Given the description of an element on the screen output the (x, y) to click on. 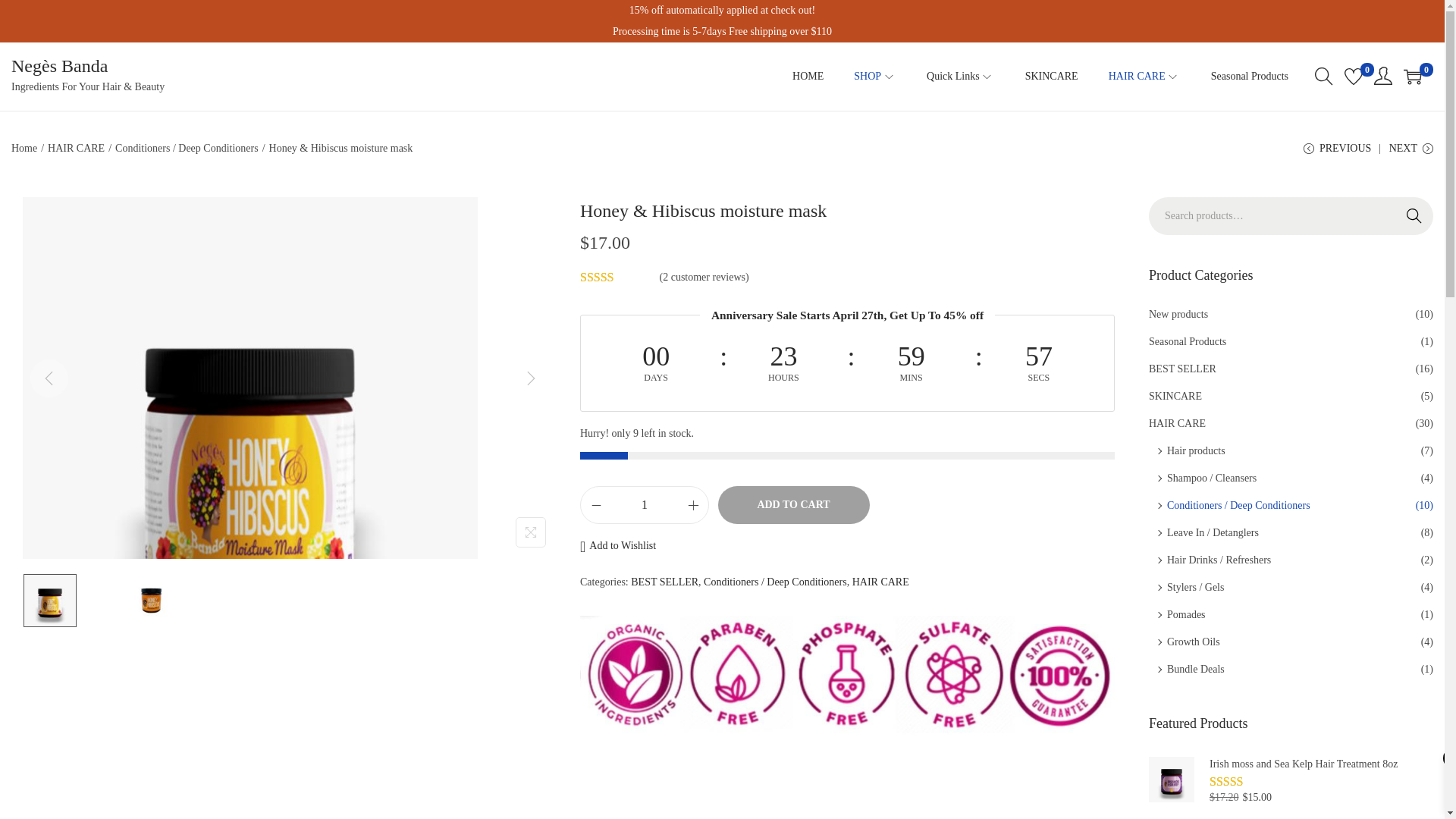
Seasonal Products (1249, 76)
PREVIOUS (1337, 154)
1 (643, 504)
NEXT (1410, 154)
0 (1412, 76)
Quick Links (960, 76)
HAIR CARE (1144, 76)
0 (1352, 76)
Home (24, 147)
HAIR CARE (76, 147)
